Given the description of an element on the screen output the (x, y) to click on. 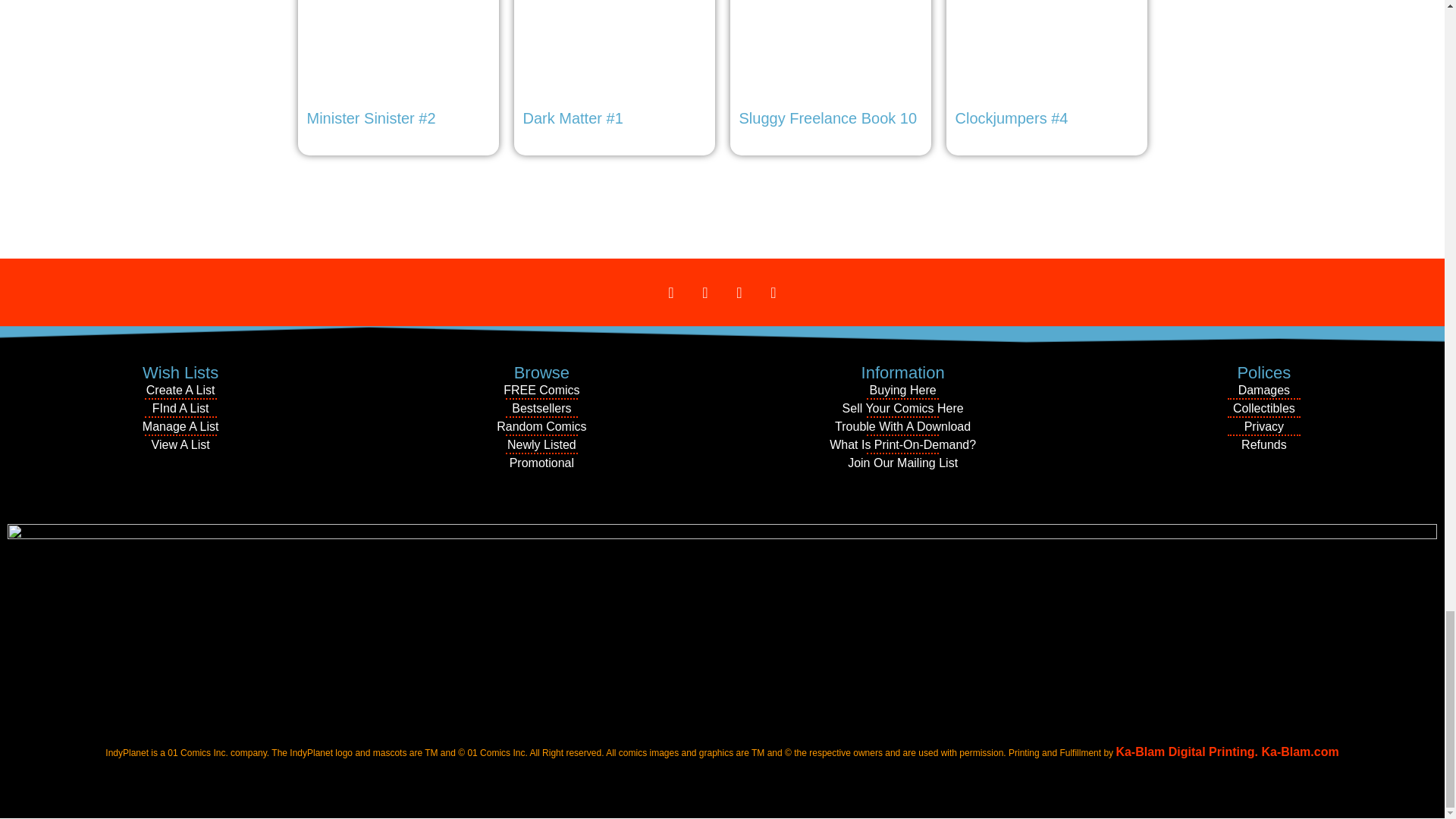
Sluggy Freelance Book 10 (829, 67)
